Given the description of an element on the screen output the (x, y) to click on. 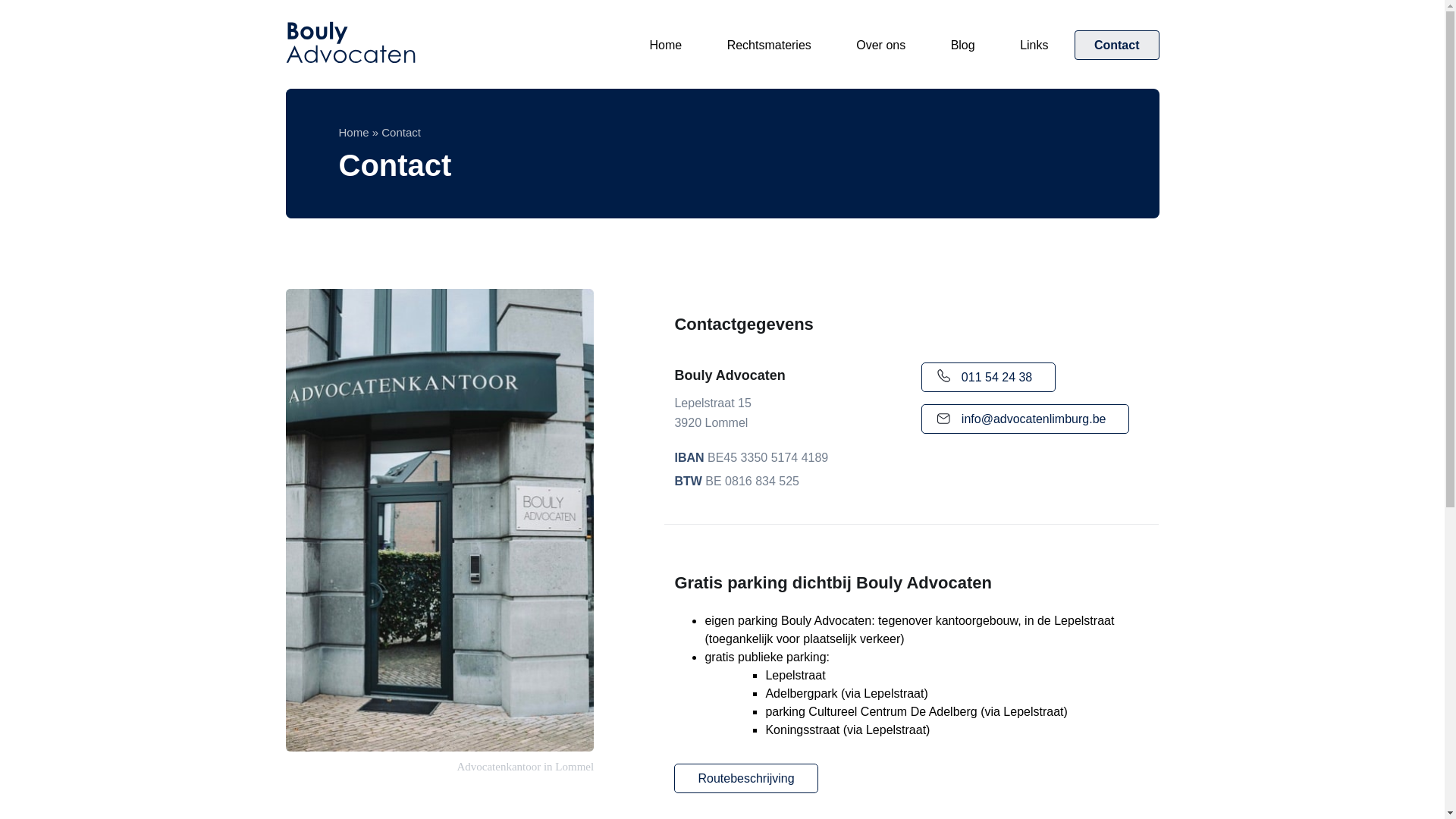
Blog Element type: text (962, 45)
Over ons Element type: text (880, 45)
Home Element type: text (353, 131)
Routebeschrijving Element type: text (745, 778)
Icons/phone 011 54 24 38 Element type: text (988, 377)
Home Element type: text (665, 45)
Contact Element type: text (1116, 44)
icon_mail info@advocatenlimburg.be Element type: text (1025, 418)
Links Element type: text (1033, 45)
Rechtsmateries Element type: text (769, 45)
